Given the description of an element on the screen output the (x, y) to click on. 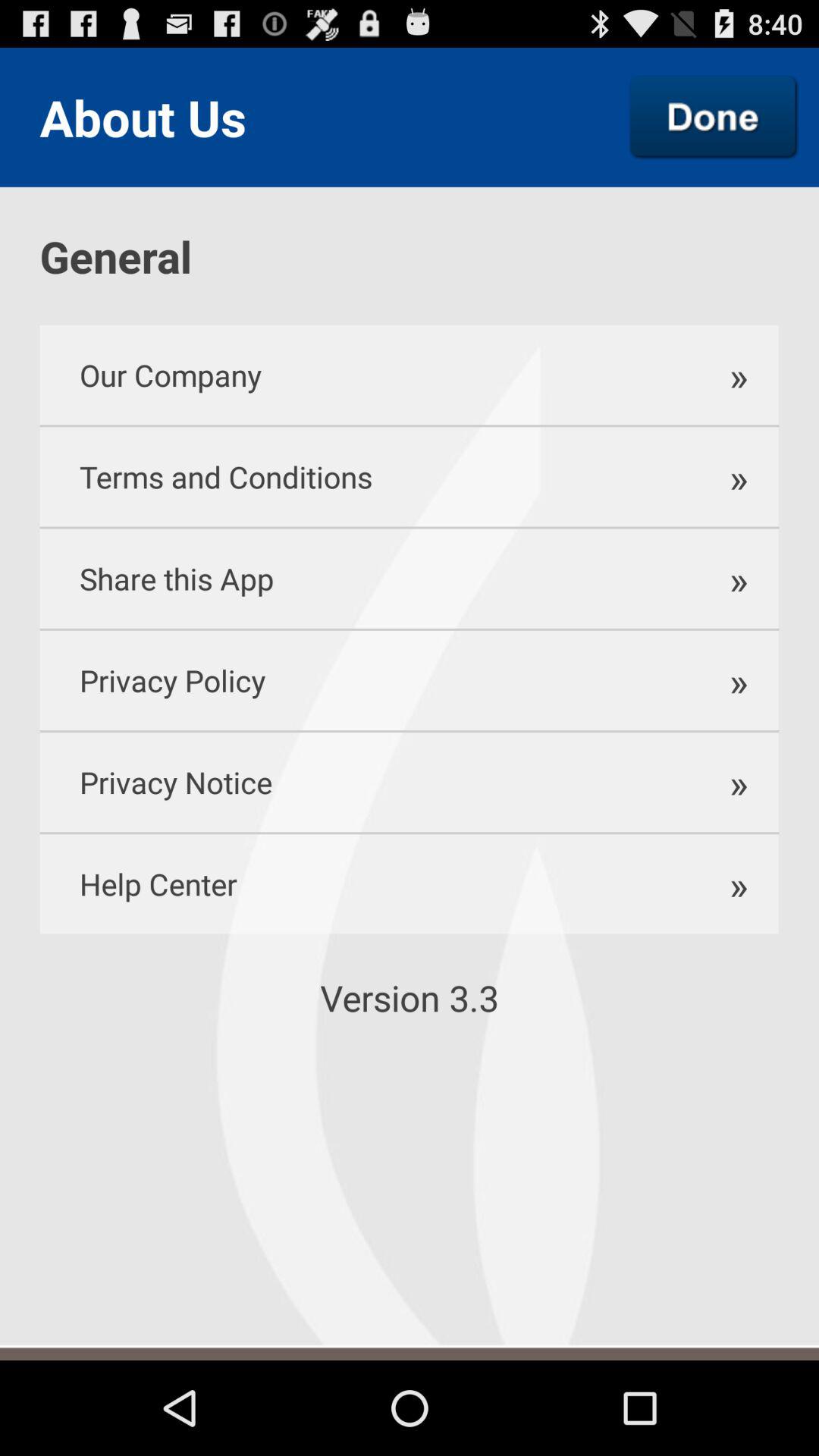
tap our company item (361, 374)
